Given the description of an element on the screen output the (x, y) to click on. 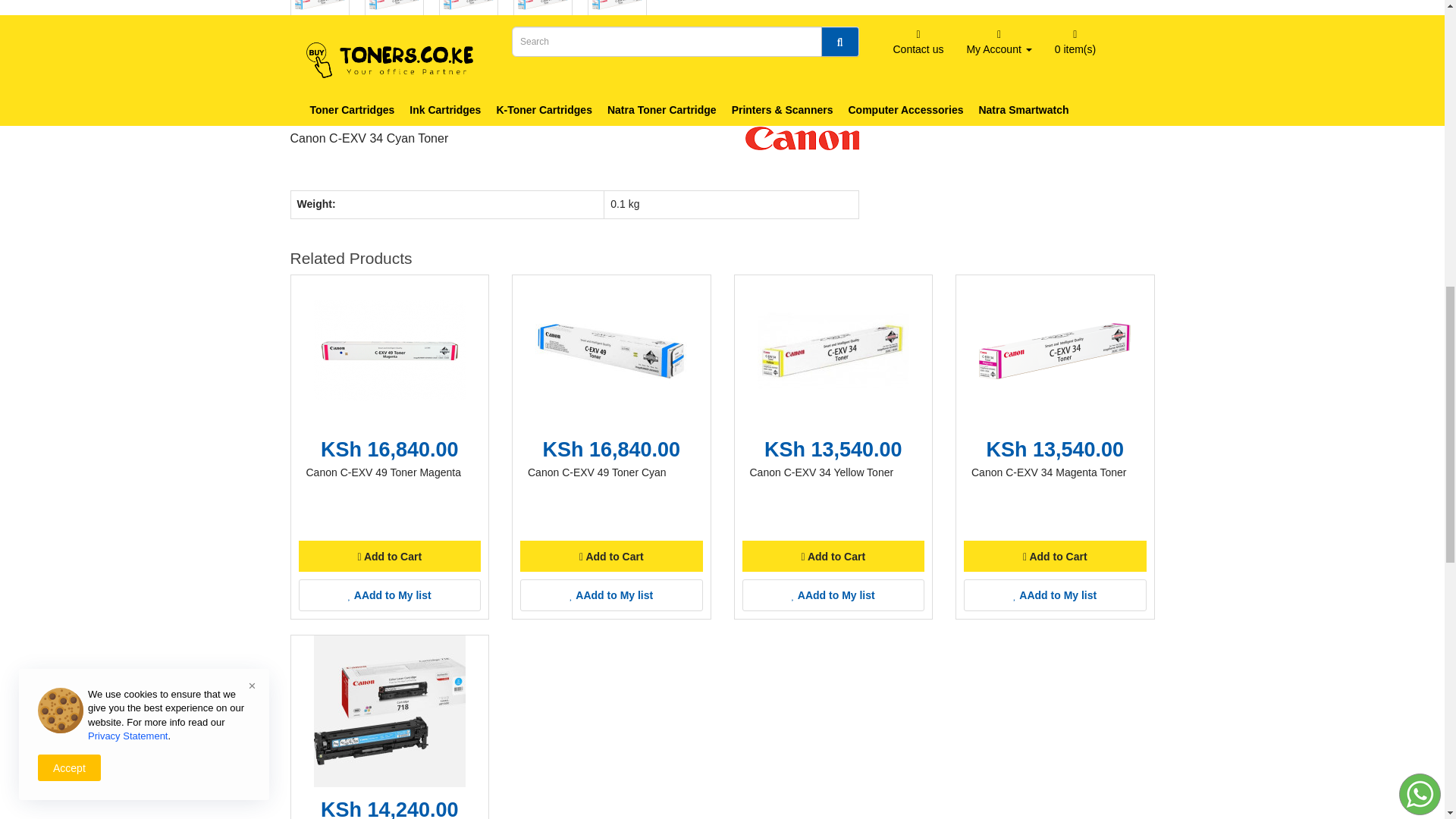
Canon C-EXV 49 Toner Magenta (389, 350)
Canon C-EXV 49 Toner Cyan (611, 350)
